Given the description of an element on the screen output the (x, y) to click on. 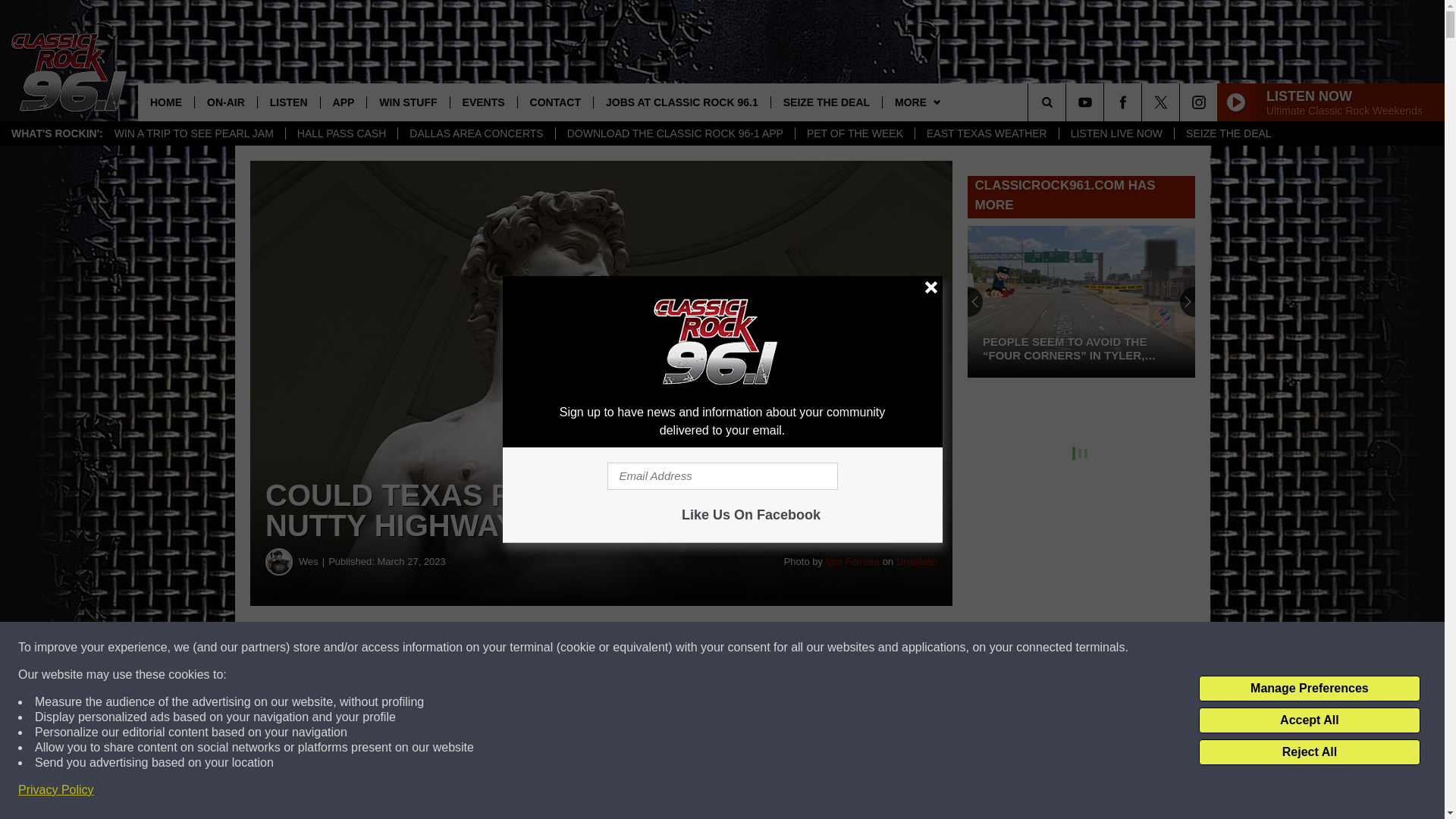
DOWNLOAD THE CLASSIC ROCK 96-1 APP (674, 133)
PET OF THE WEEK (854, 133)
Reject All (1309, 751)
SEIZE THE DEAL (1227, 133)
APP (343, 102)
Share on Twitter (741, 647)
Share on Facebook (460, 647)
EAST TEXAS WEATHER (986, 133)
Accept All (1309, 720)
LISTEN LIVE NOW (1115, 133)
ON-AIR (225, 102)
SEARCH (1068, 102)
SEARCH (1068, 102)
Email Address (722, 475)
Manage Preferences (1309, 688)
